Given the description of an element on the screen output the (x, y) to click on. 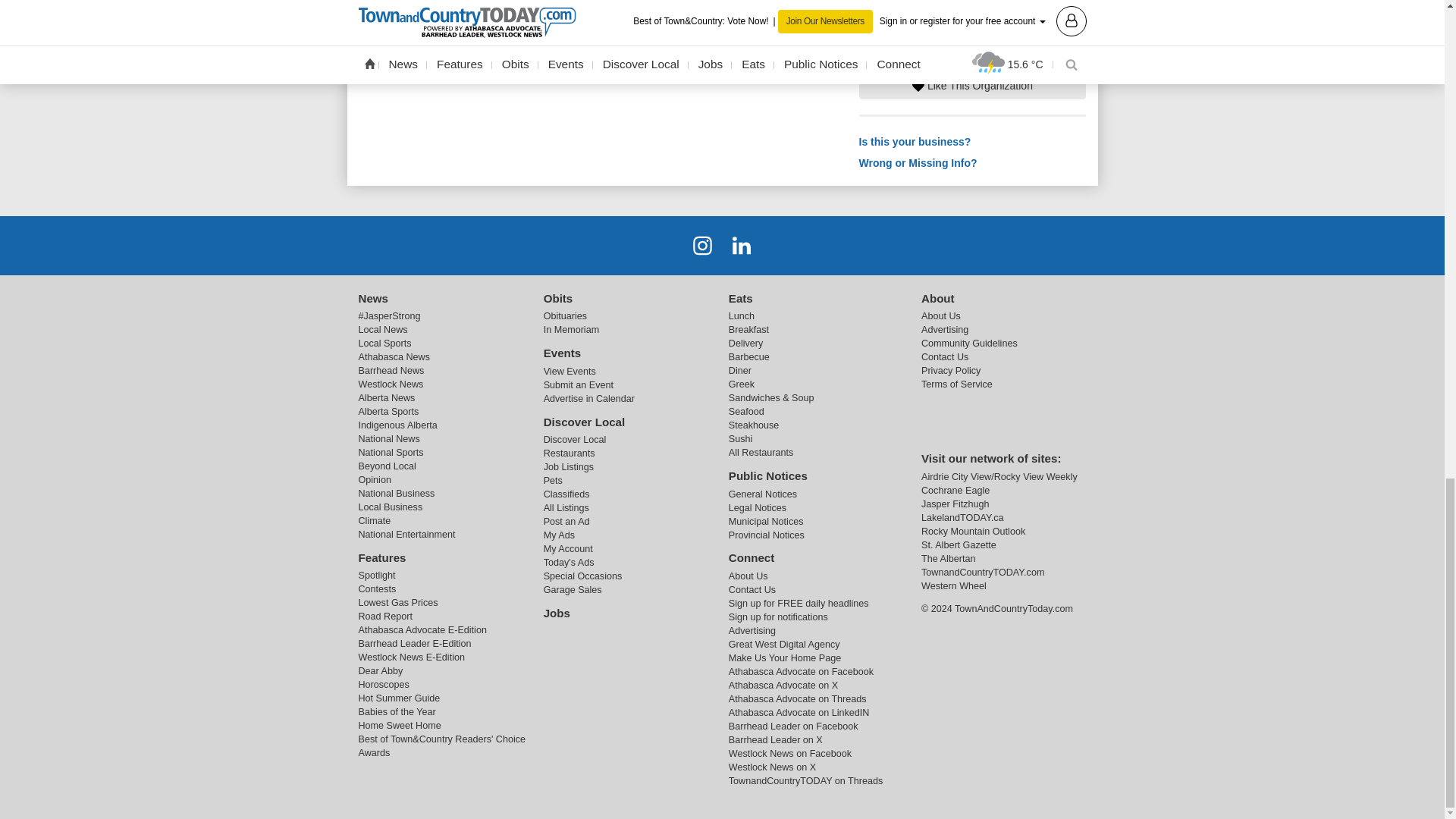
Instagram (702, 244)
LinkedIn (741, 244)
